Given the description of an element on the screen output the (x, y) to click on. 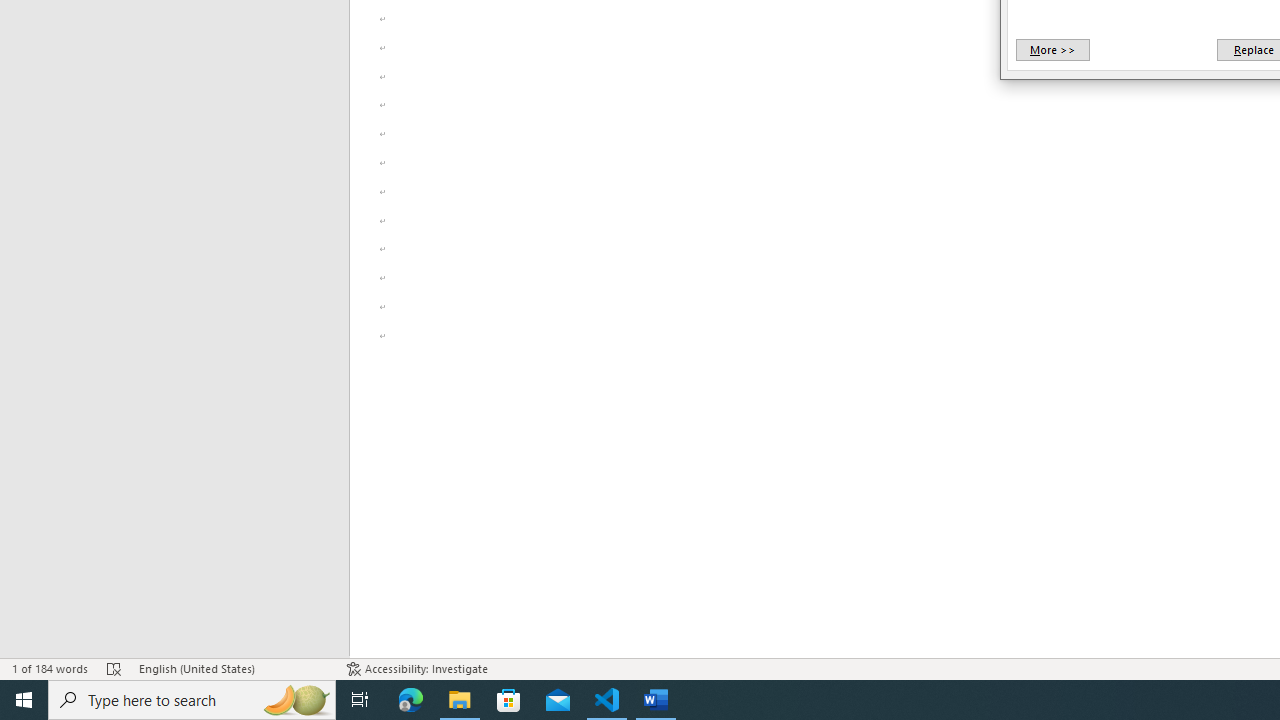
Visual Studio Code - 1 running window (607, 699)
Task View (359, 699)
Start (24, 699)
Spelling and Grammar Check Errors (114, 668)
File Explorer - 1 running window (460, 699)
Language English (United States) (232, 668)
Accessibility Checker Accessibility: Investigate (417, 668)
Word - 1 running window (656, 699)
Search highlights icon opens search home window (295, 699)
More >> (1052, 49)
Microsoft Store (509, 699)
Type here to search (191, 699)
Microsoft Edge (411, 699)
